Given the description of an element on the screen output the (x, y) to click on. 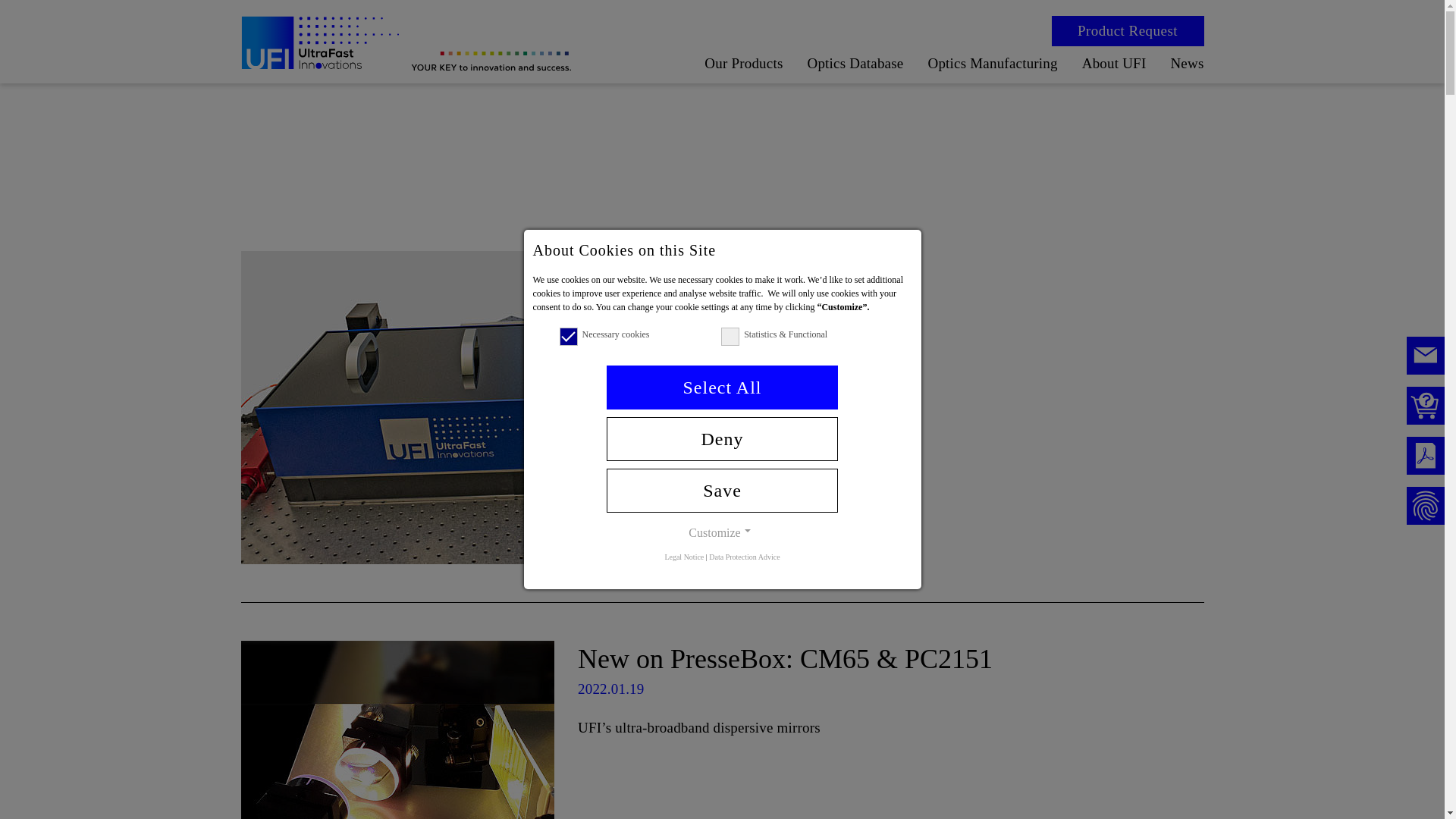
Product Request (1127, 30)
About UFI (1114, 63)
News (1187, 63)
Optics Manufacturing (992, 63)
Optics Database (854, 63)
Our Products (743, 63)
